Given the description of an element on the screen output the (x, y) to click on. 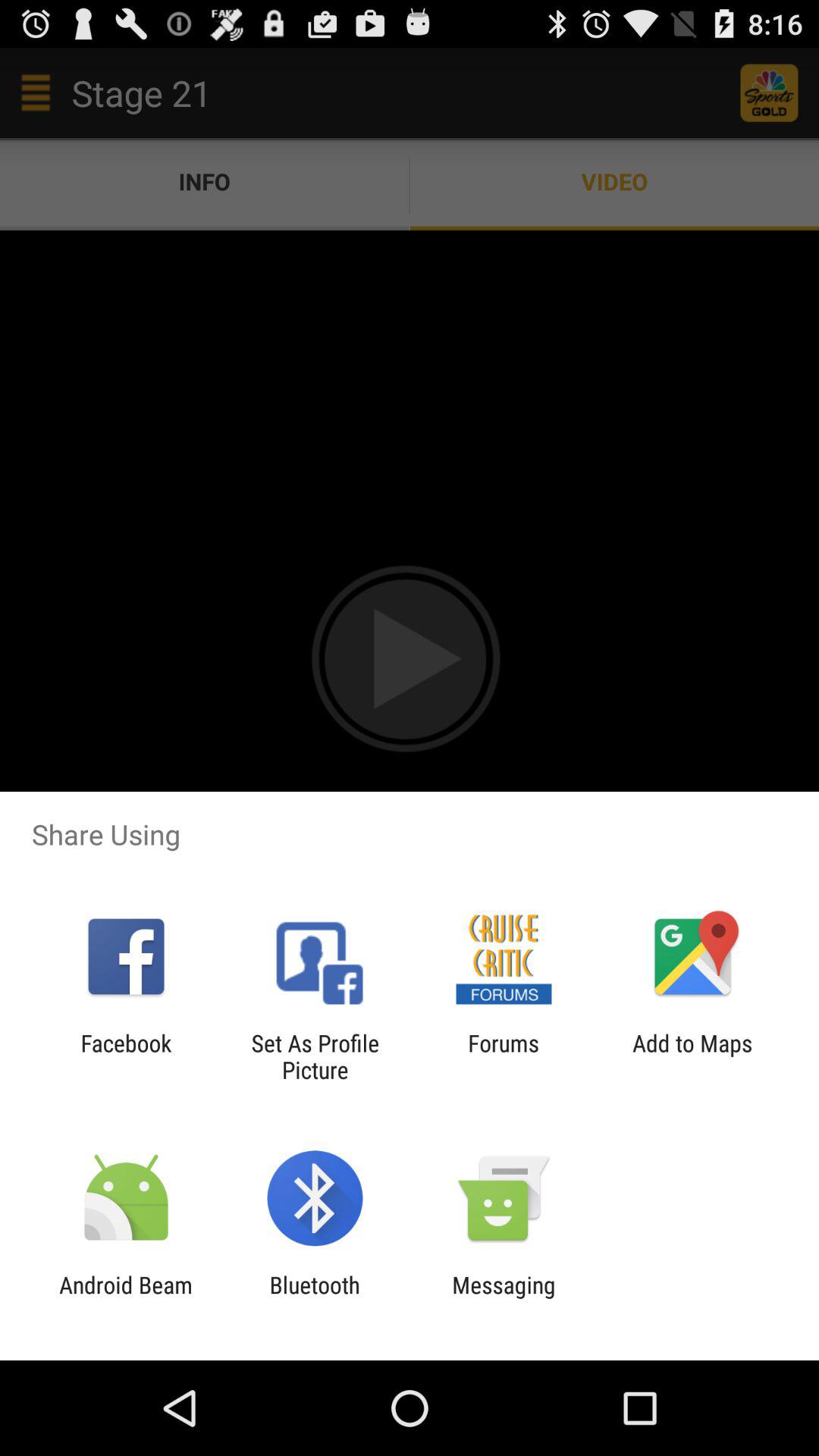
tap app to the right of android beam item (314, 1298)
